Given the description of an element on the screen output the (x, y) to click on. 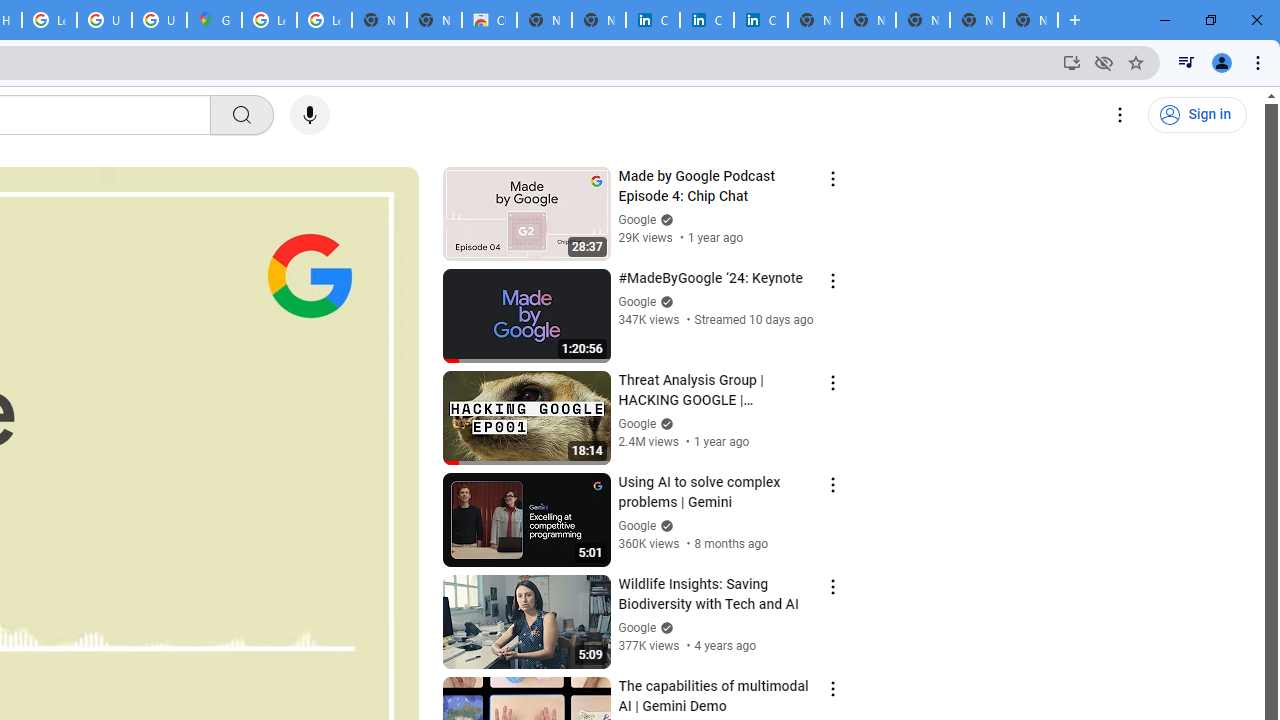
New Tab (1030, 20)
Copyright Policy (760, 20)
Install YouTube (1071, 62)
Cookie Policy | LinkedIn (652, 20)
